Given the description of an element on the screen output the (x, y) to click on. 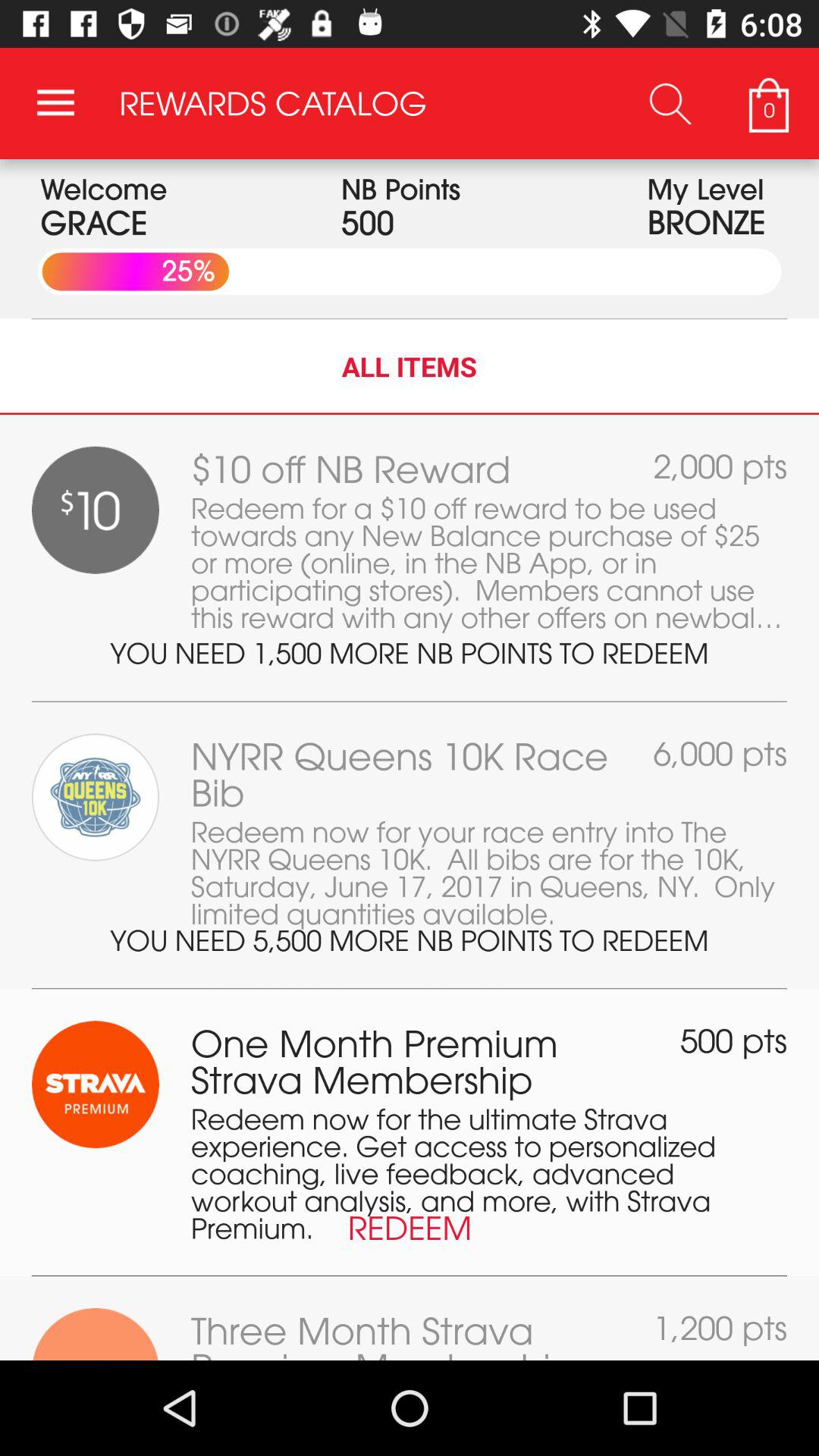
launch icon to the left of the 0 (670, 103)
